Given the description of an element on the screen output the (x, y) to click on. 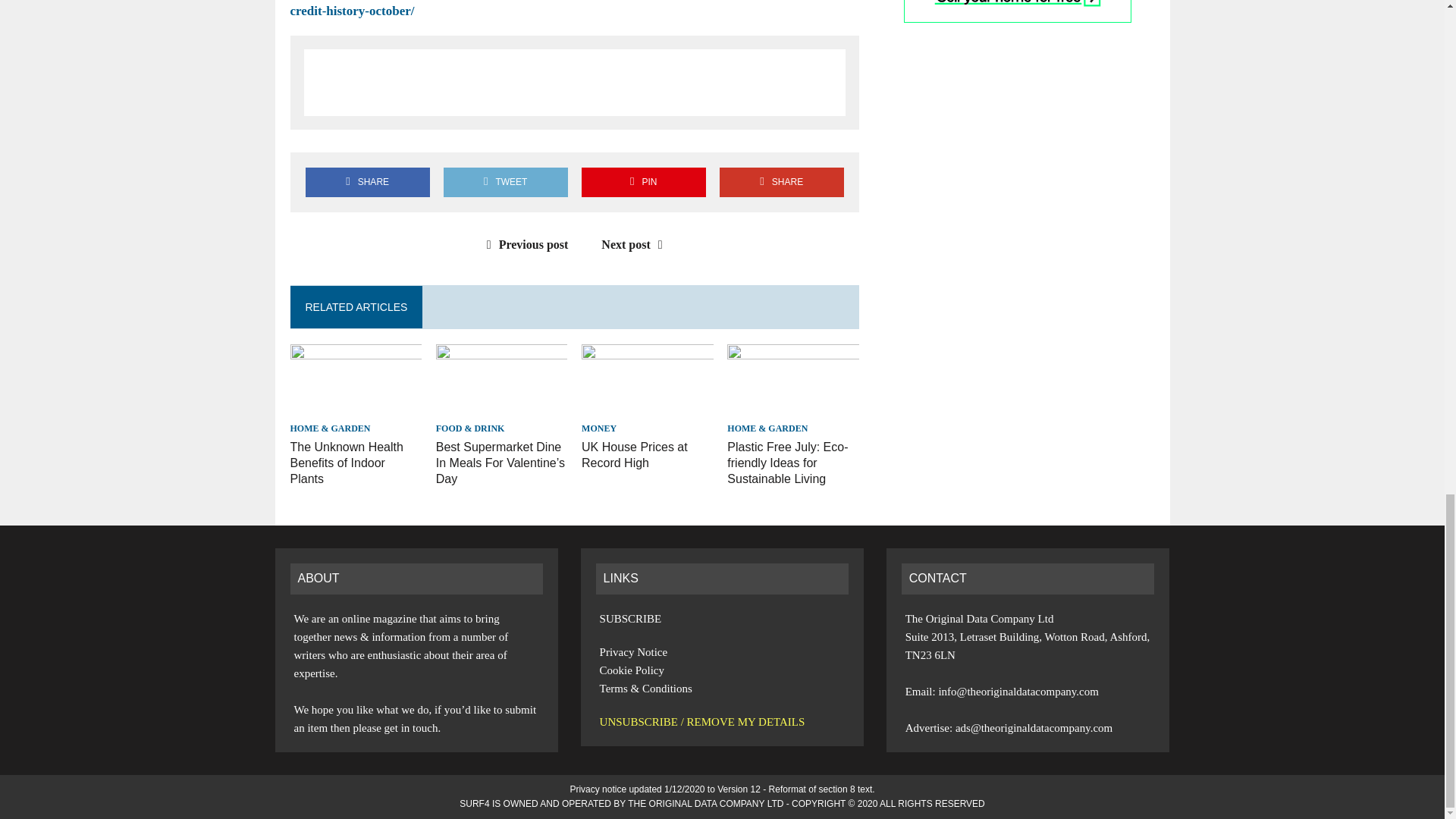
Share on Facebook (366, 182)
